Given the description of an element on the screen output the (x, y) to click on. 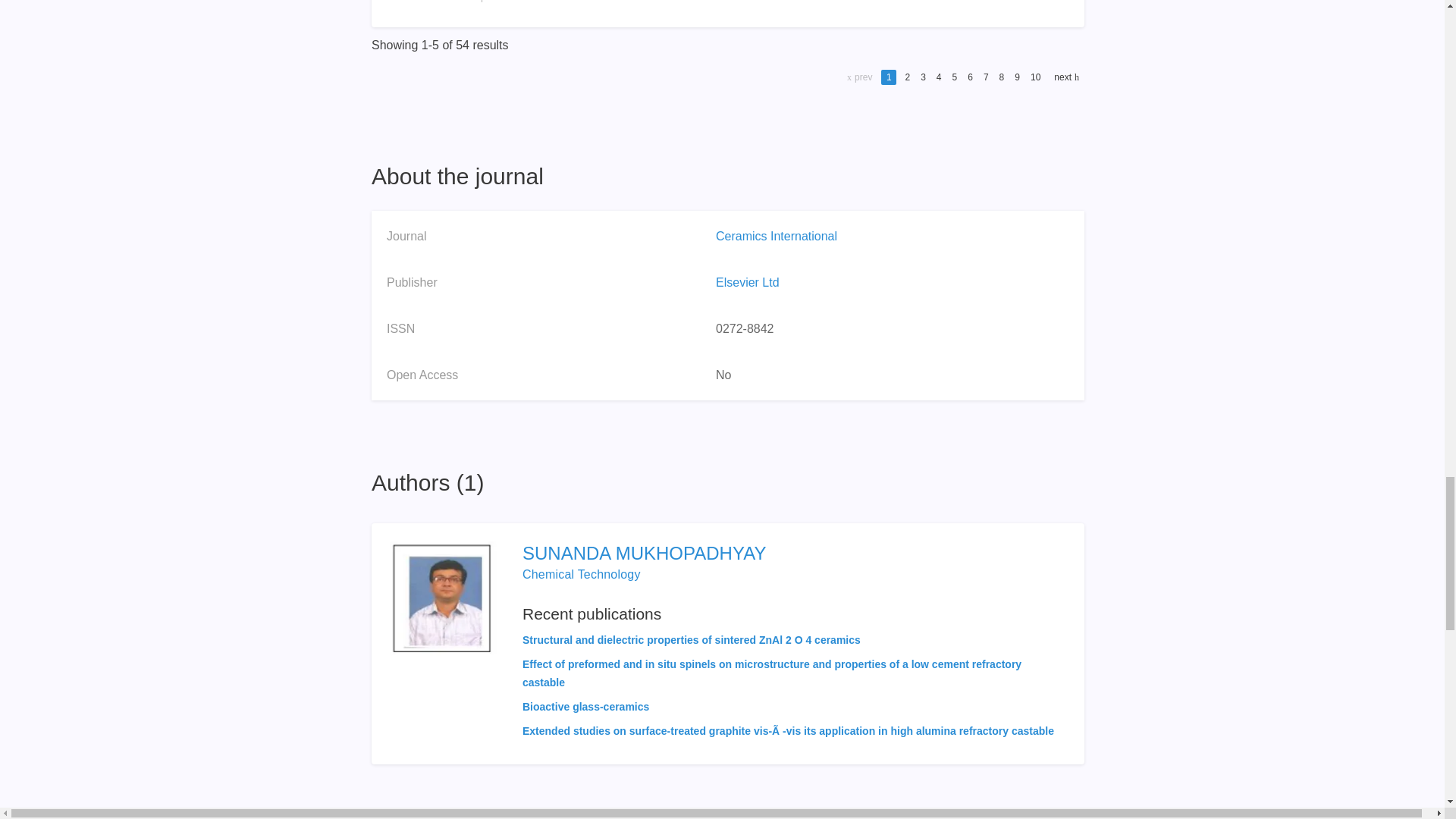
Elsevier Ltd (747, 282)
10 (1034, 77)
Ceramics International (776, 236)
1 (888, 77)
Chemical Technology (581, 574)
Bioactive glass-ceramics (585, 706)
next (1064, 77)
SUNANDA MUKHOPADHYAY (793, 553)
